Given the description of an element on the screen output the (x, y) to click on. 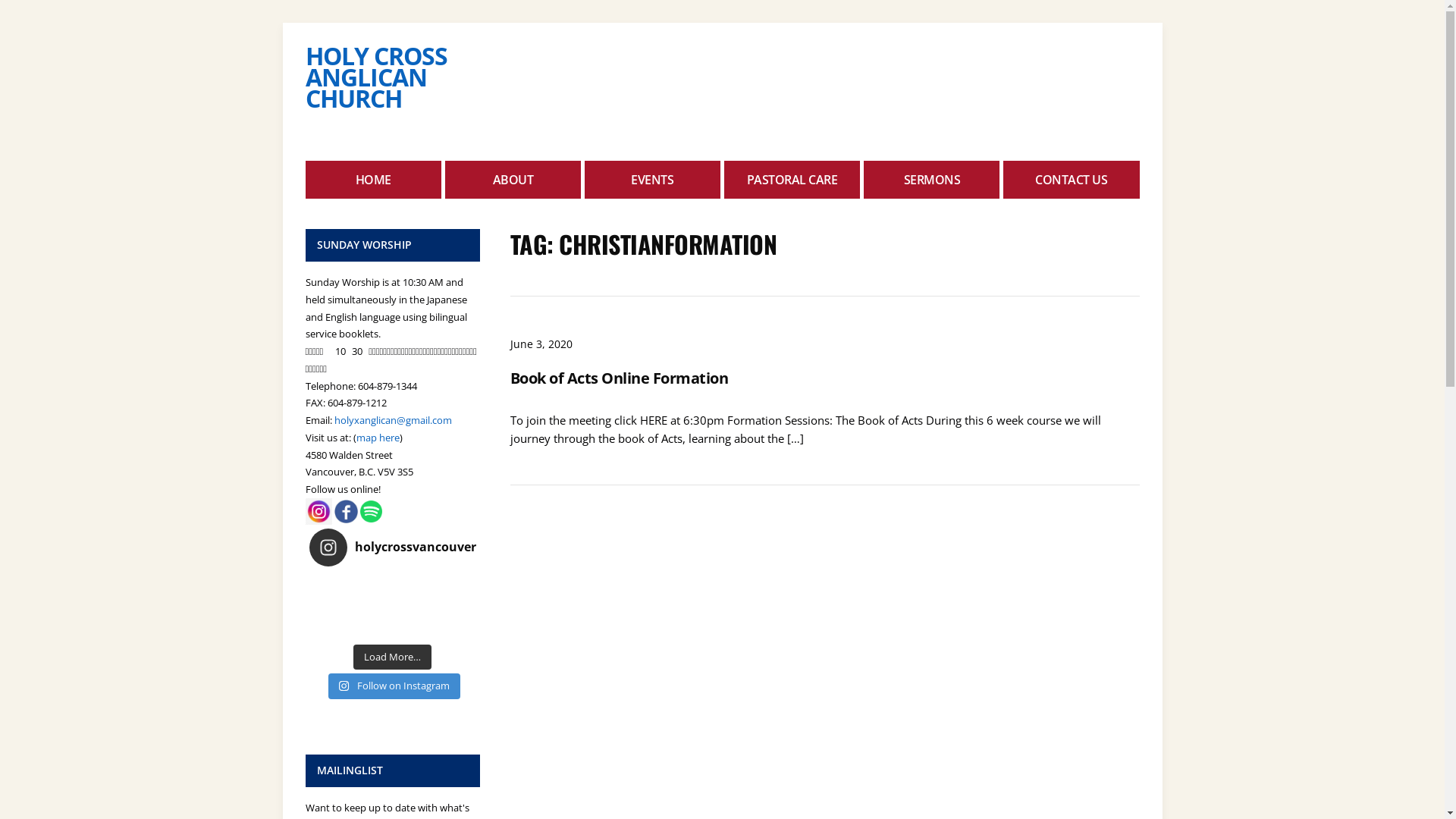
EVENTS Element type: text (652, 179)
SERMONS Element type: text (931, 179)
PASTORAL CARE Element type: text (791, 179)
HOME Element type: text (372, 179)
holycrossvancouver Element type: text (392, 547)
CONTACT US Element type: text (1071, 179)
Book of Acts Online Formation Element type: text (618, 377)
ABOUT Element type: text (512, 179)
Follow on Instagram Element type: text (393, 686)
map here Element type: text (377, 437)
holyxanglican@gmail.com Element type: text (392, 419)
HOLY CROSS ANGLICAN CHURCH Element type: text (375, 76)
